Given the description of an element on the screen output the (x, y) to click on. 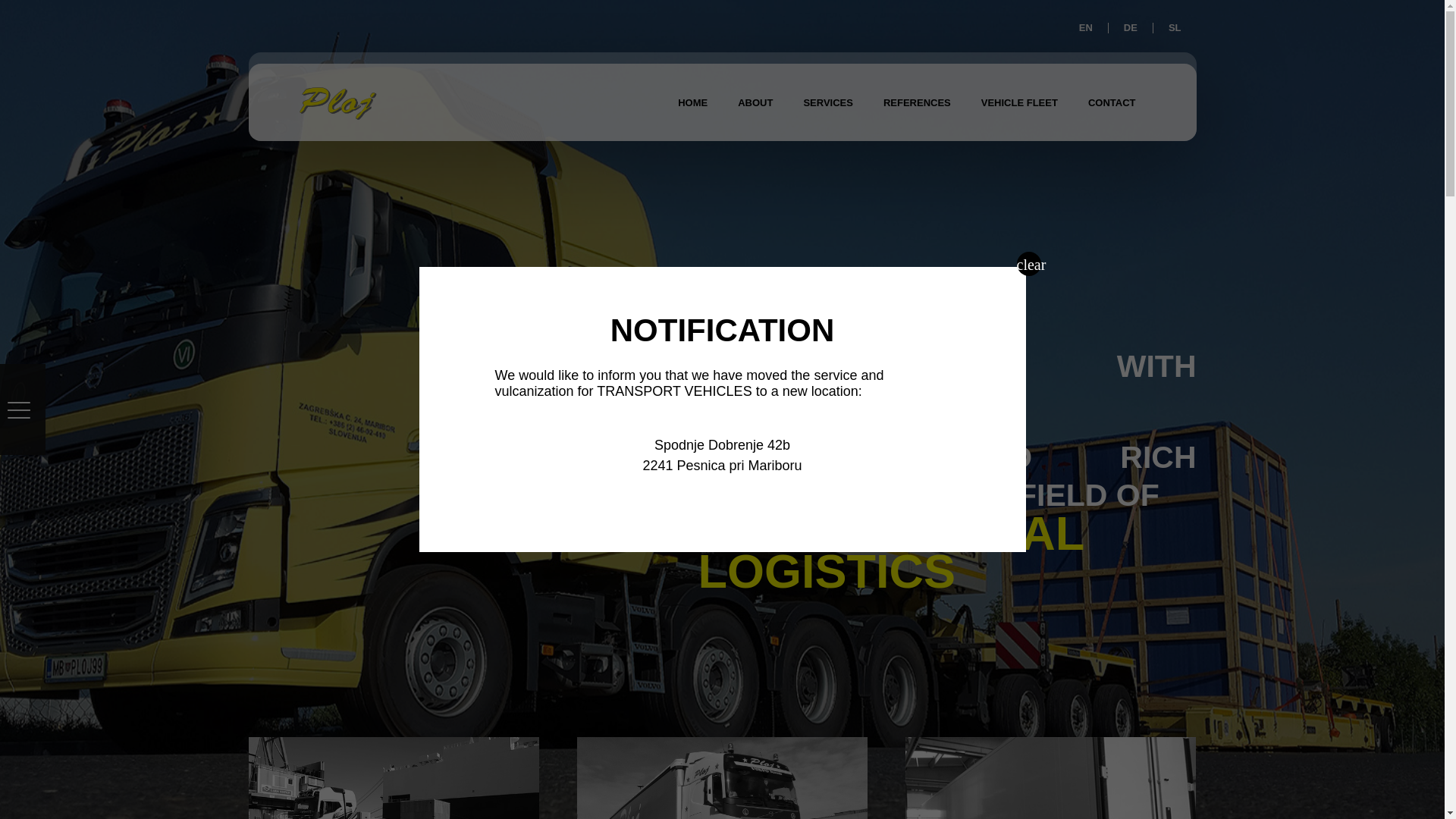
DE (1130, 27)
clear (1028, 263)
EN (1085, 27)
SL (1174, 27)
